Given the description of an element on the screen output the (x, y) to click on. 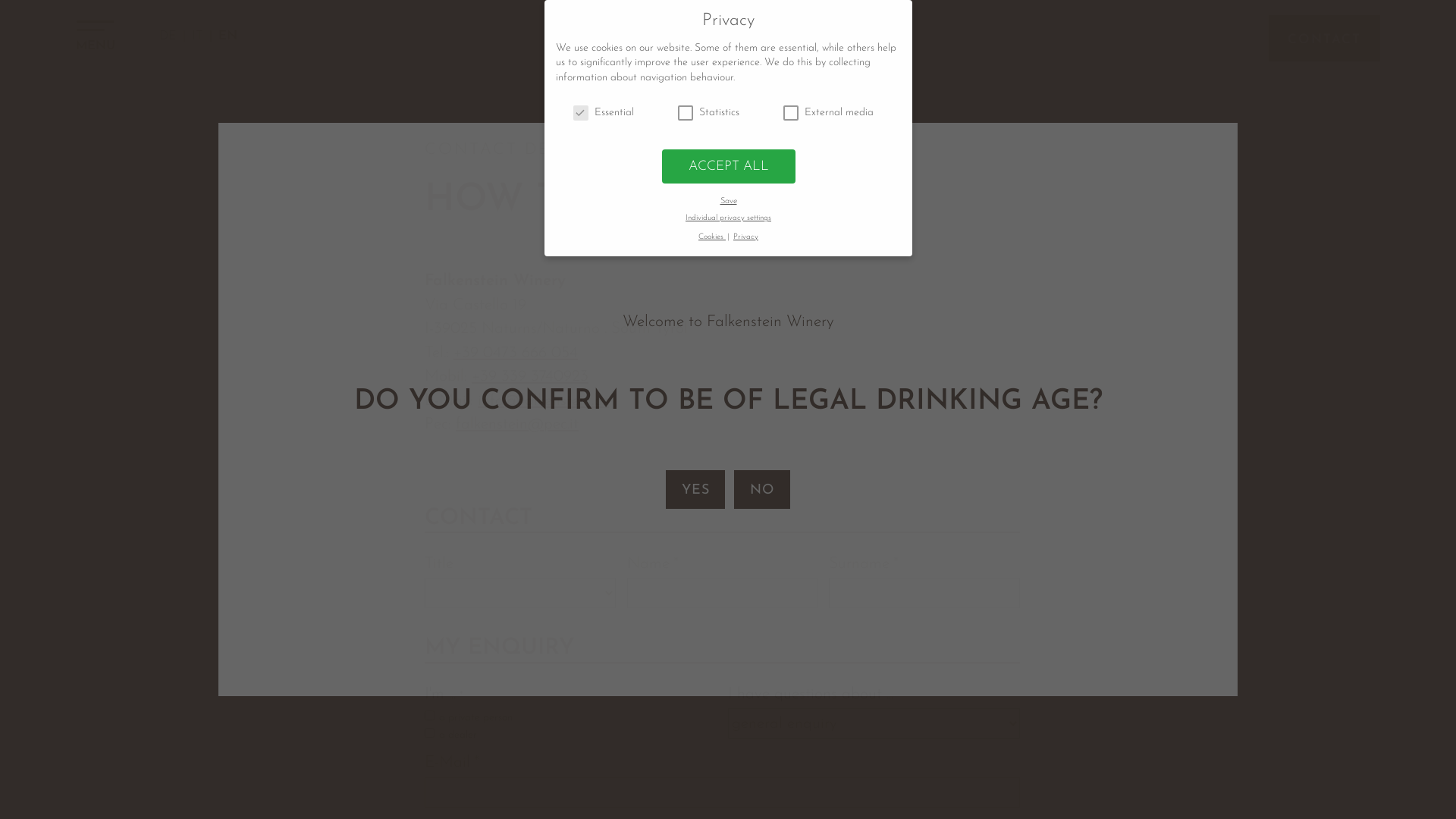
Cookies Element type: text (710, 236)
Privacy Element type: text (744, 236)
Individual privacy settings Element type: text (728, 217)
info@falkenstein.bz Element type: text (542, 400)
falkenstein@pec.it Element type: text (516, 424)
CONTACT Element type: text (1324, 38)
EN Element type: text (227, 35)
+39 0473 666 054 Element type: text (515, 352)
ACCEPT ALL Element type: text (727, 165)
DE Element type: text (172, 35)
YES Element type: text (694, 489)
IT Element type: text (201, 35)
Save Element type: text (727, 201)
MENU Element type: text (94, 40)
NO Element type: text (762, 489)
+39 339 3740923 Element type: text (529, 376)
